Given the description of an element on the screen output the (x, y) to click on. 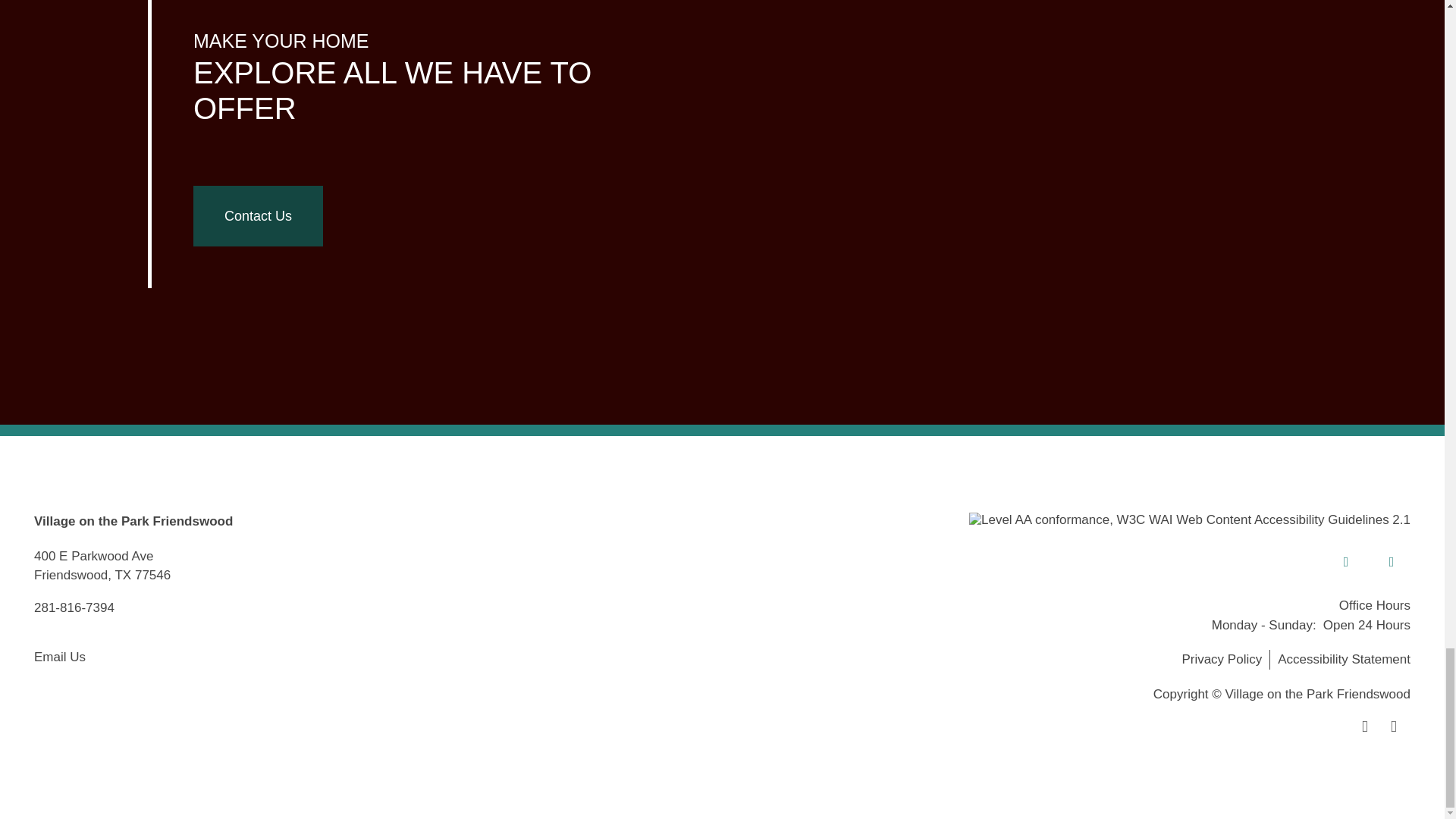
Privacy Policy (1224, 659)
Email Us (59, 657)
Facebook (1345, 561)
Google My Business (1391, 561)
281-816-7394 (74, 615)
Explanation of WCAG 2 Level AA conformance (1189, 520)
Property Phone Number (74, 615)
Contact Us (258, 215)
